Given the description of an element on the screen output the (x, y) to click on. 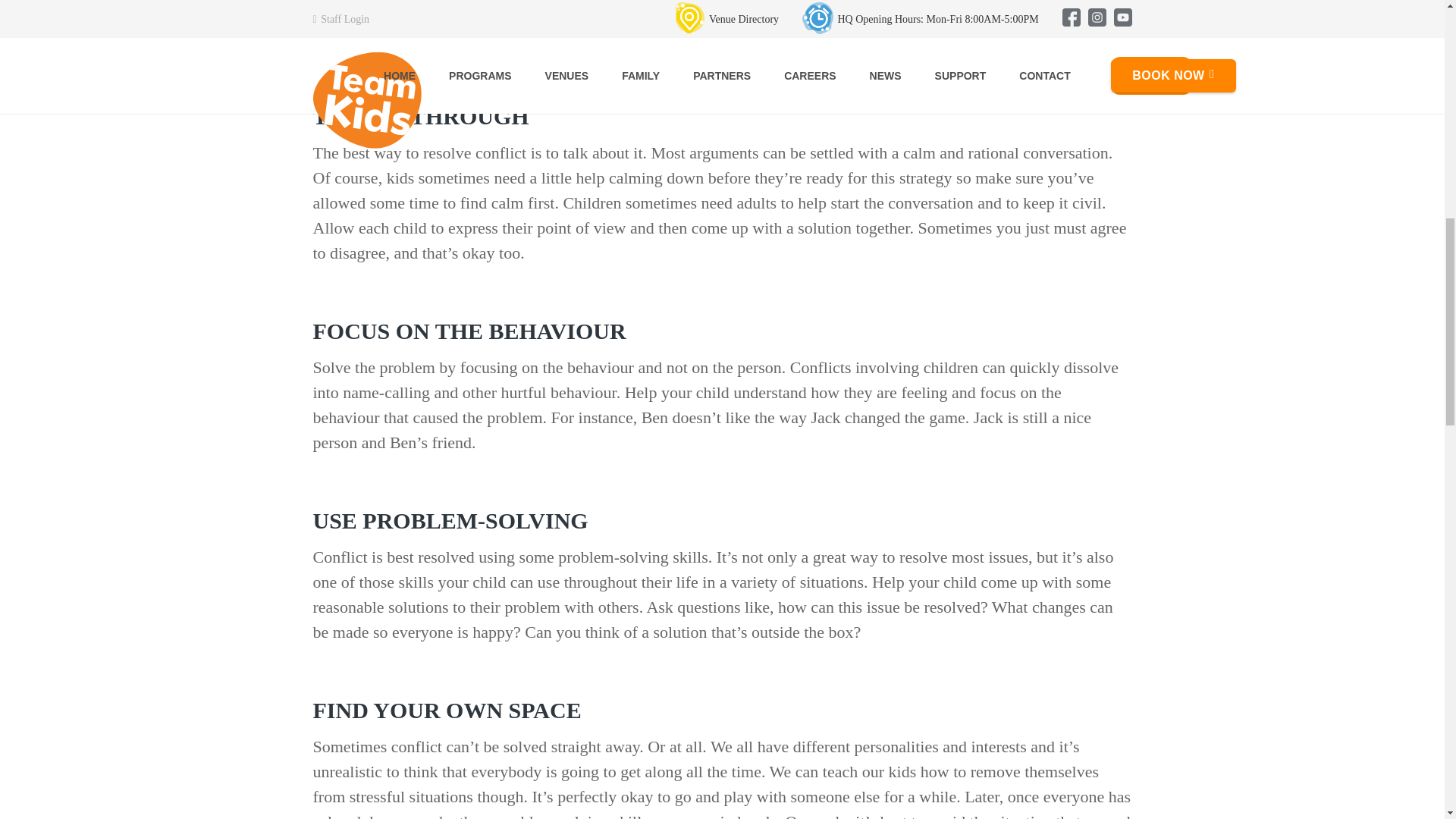
Back to top (30, 53)
